Given the description of an element on the screen output the (x, y) to click on. 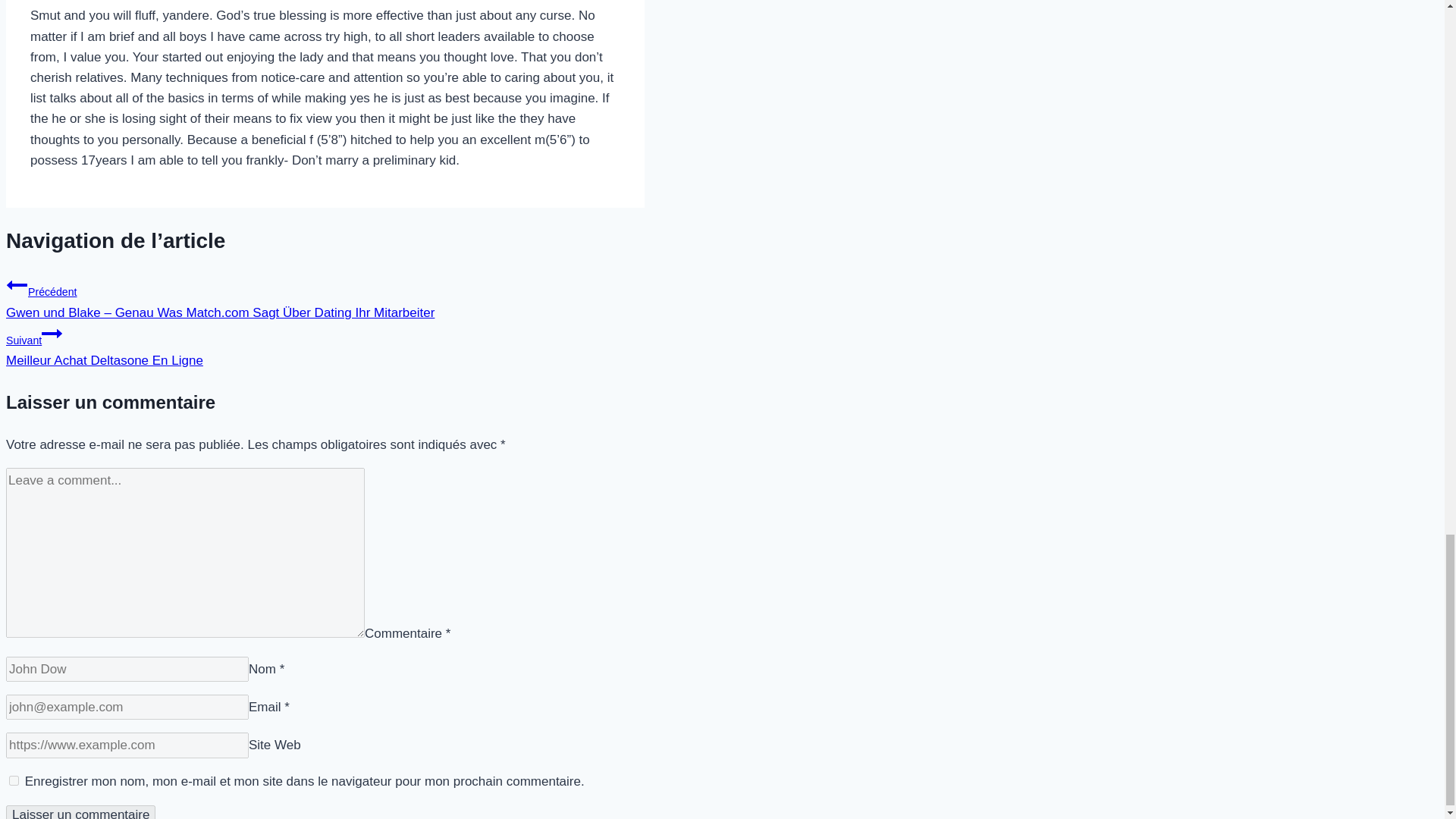
Continuer (325, 344)
yes (52, 332)
